Given the description of an element on the screen output the (x, y) to click on. 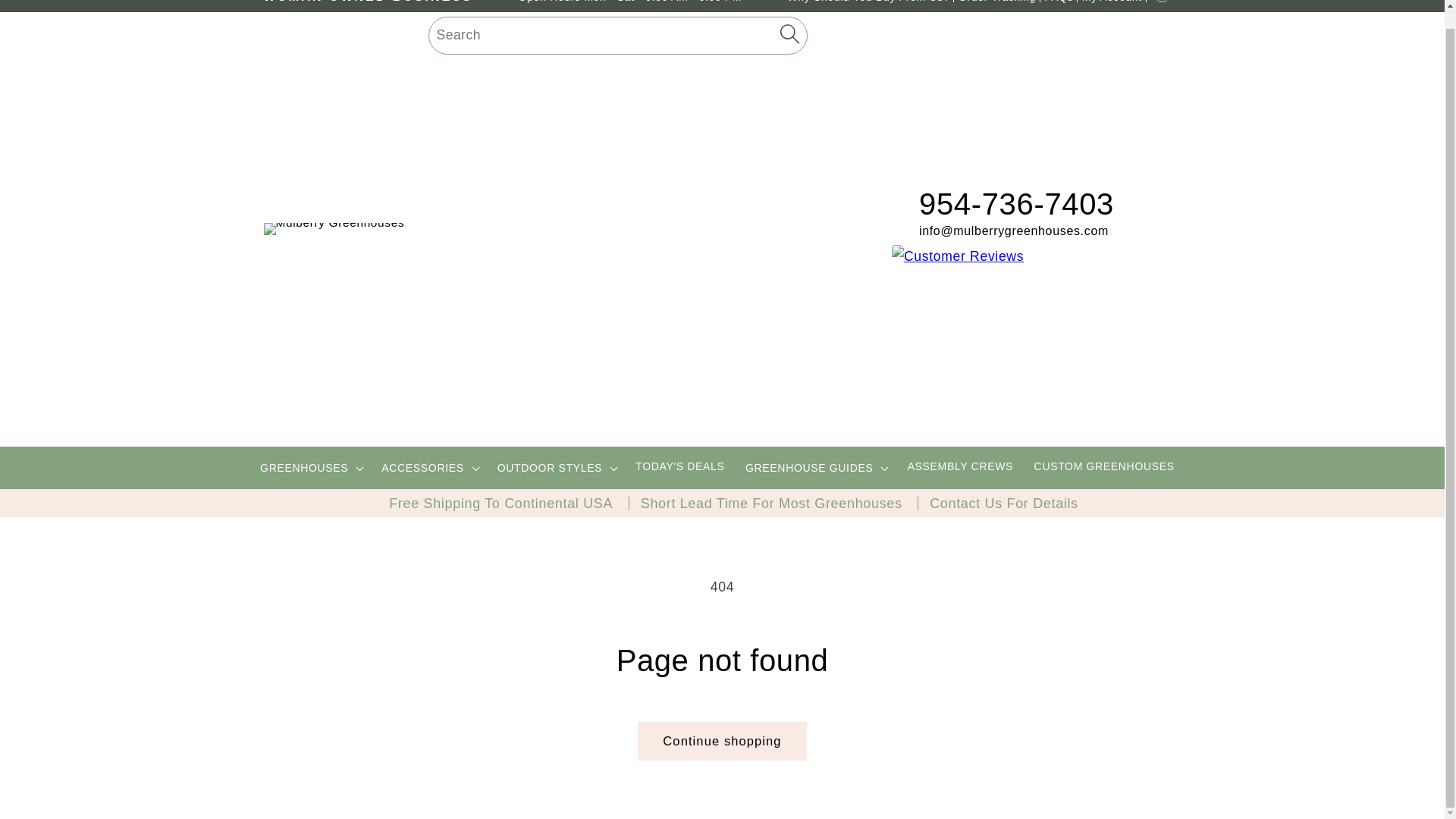
Why Should You Buy From Us? (868, 1)
FAQs (1059, 1)
Skip to content (50, 10)
Cart (1161, 4)
Order Tracking (996, 1)
My Account (1111, 1)
